Given the description of an element on the screen output the (x, y) to click on. 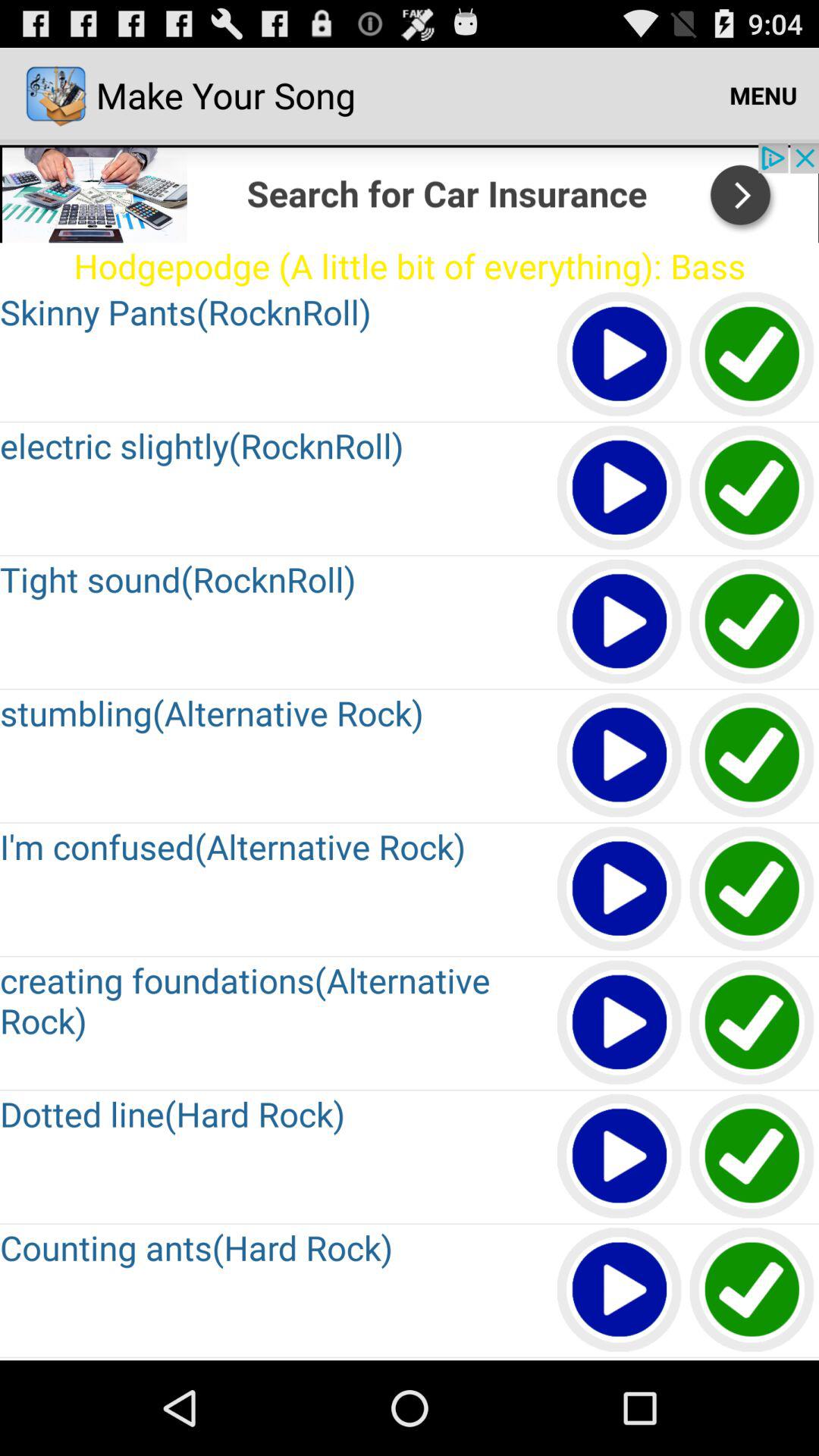
select sound clip (752, 622)
